Given the description of an element on the screen output the (x, y) to click on. 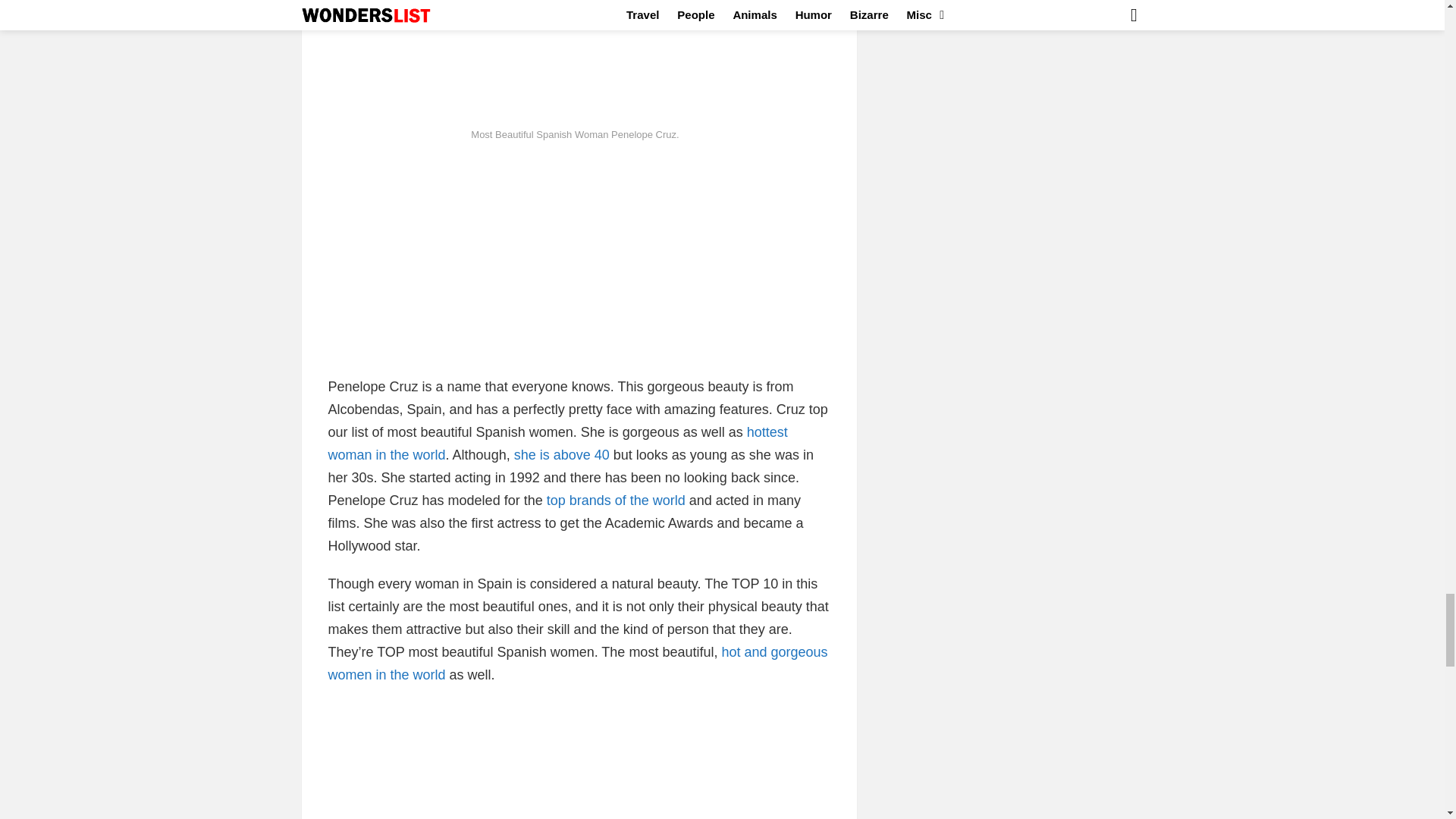
hottest woman in the world (557, 443)
she is above 40 (561, 454)
hot and gorgeous women in the world (577, 663)
top brands of the world (616, 500)
